Given the description of an element on the screen output the (x, y) to click on. 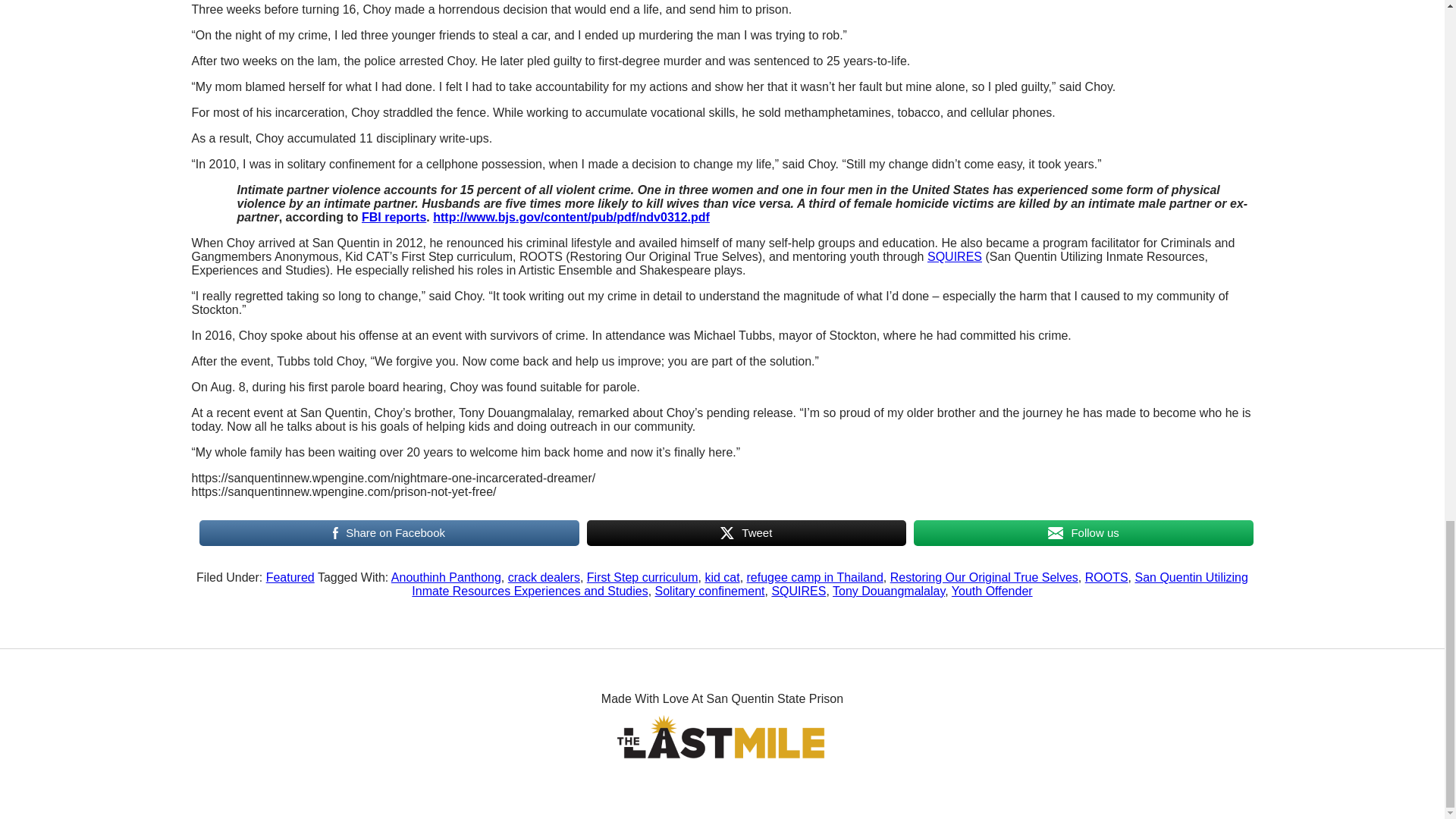
SQUIRES (798, 590)
Featured (290, 576)
refugee camp in Thailand (814, 576)
Restoring Our Original True Selves (983, 576)
crack dealers (543, 576)
Follow us (1083, 532)
Tweet (745, 532)
Tony Douangmalalay (888, 590)
ROOTS (1106, 576)
Solitary confinement (710, 590)
First Step curriculum (642, 576)
Anouthinh Panthong (445, 576)
FBI reports (393, 216)
kid cat (721, 576)
